Given the description of an element on the screen output the (x, y) to click on. 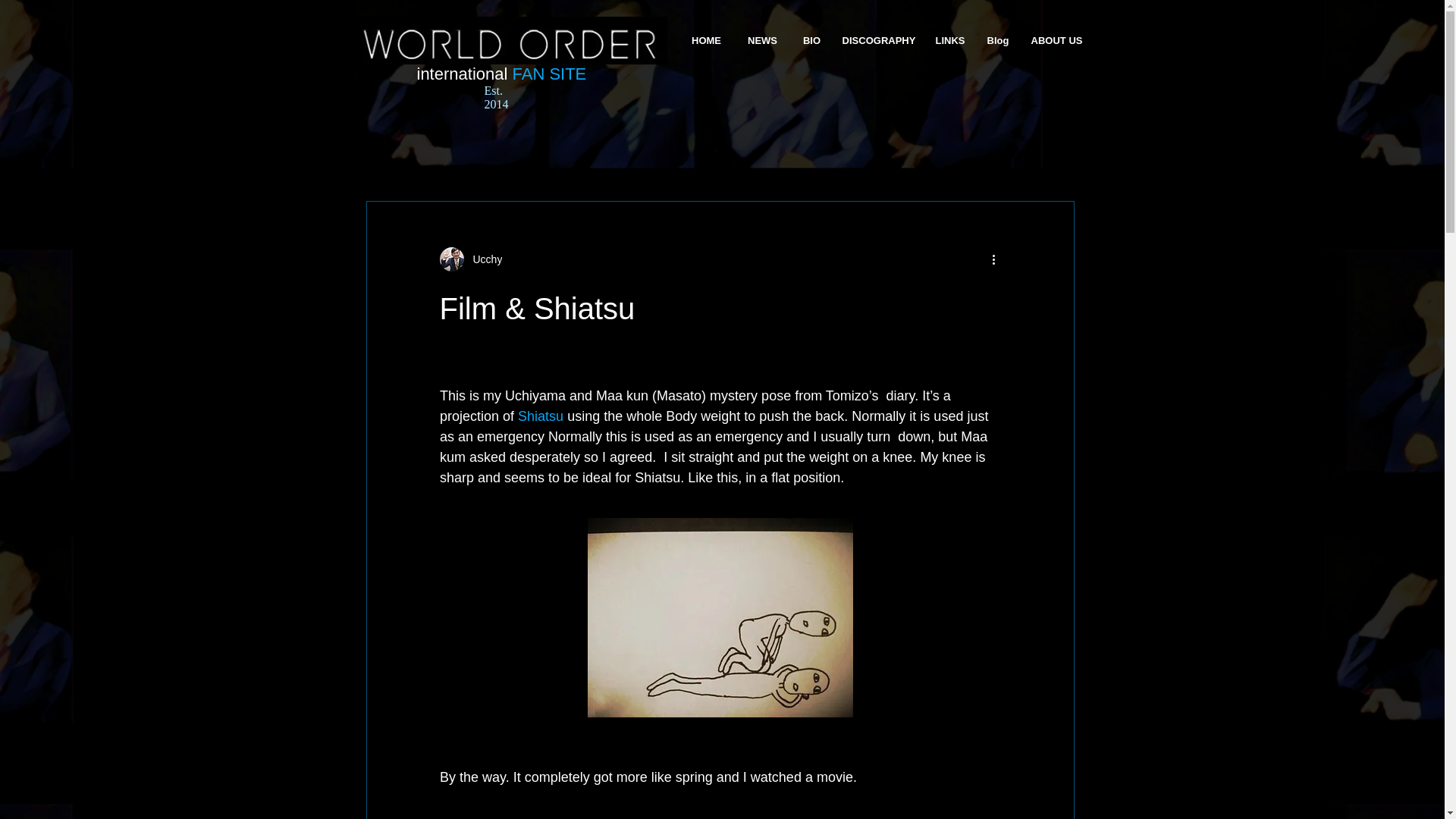
NEWS (761, 40)
Ucchy (483, 259)
Blog (997, 40)
Shiatsu (540, 416)
BIO (811, 40)
HOME (705, 40)
DISCOGRAPHY (878, 40)
ABOUT US (1056, 40)
LINKS (949, 40)
